Given the description of an element on the screen output the (x, y) to click on. 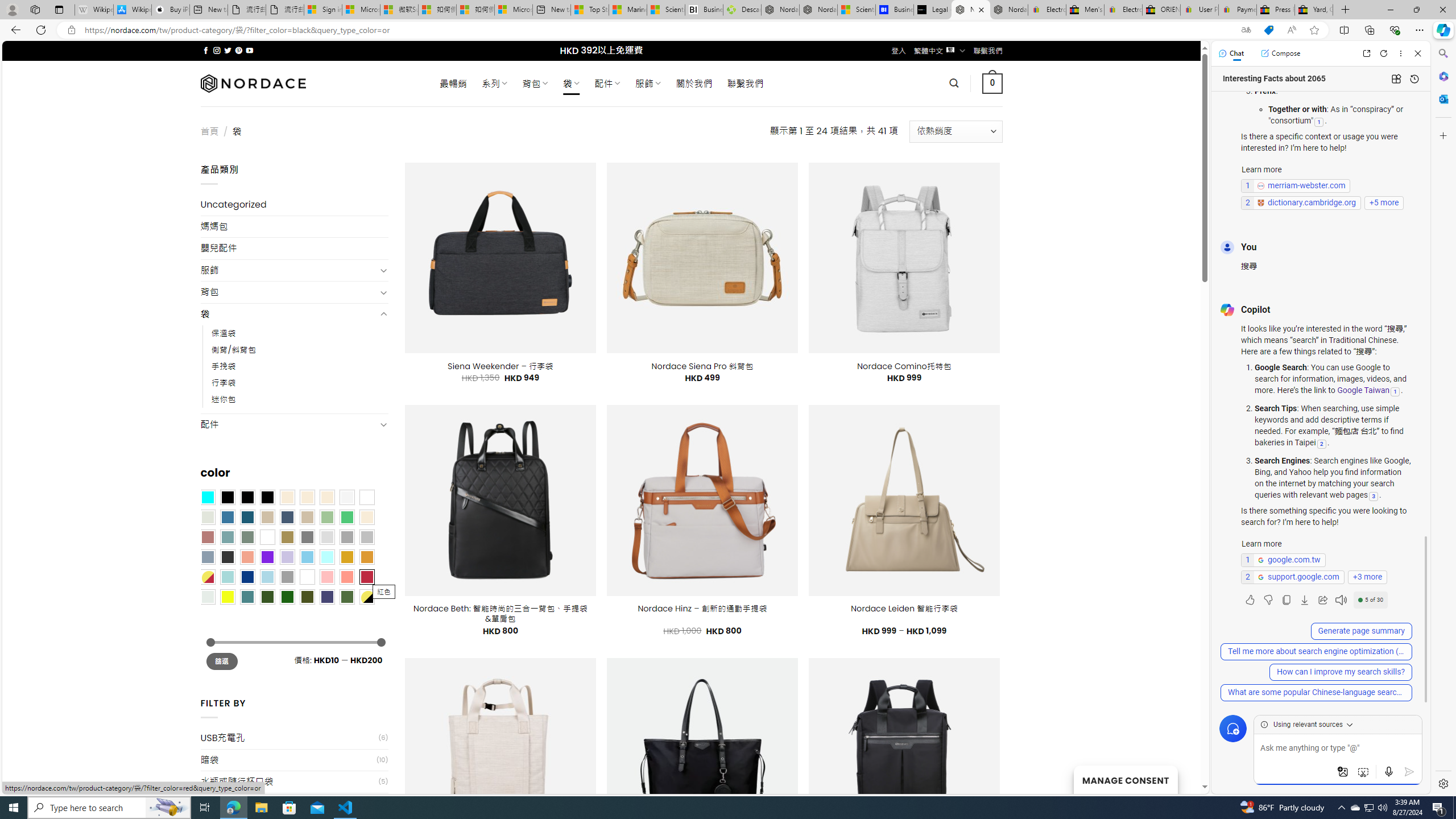
This site has coupons! Shopping in Microsoft Edge (1268, 29)
